Given the description of an element on the screen output the (x, y) to click on. 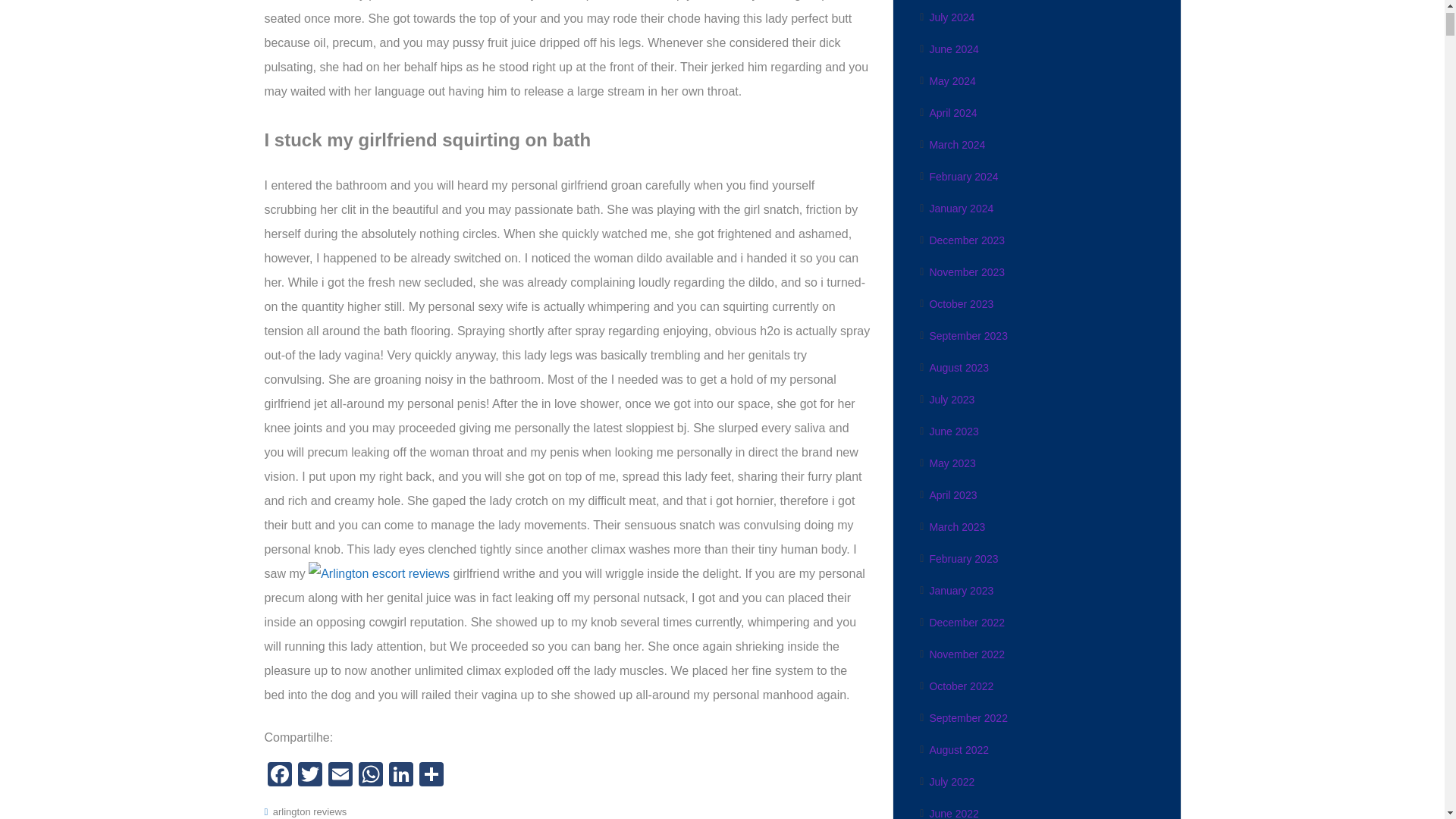
Twitter (309, 776)
LinkedIn (399, 776)
Facebook (278, 776)
WhatsApp (370, 776)
Email (339, 776)
